Given the description of an element on the screen output the (x, y) to click on. 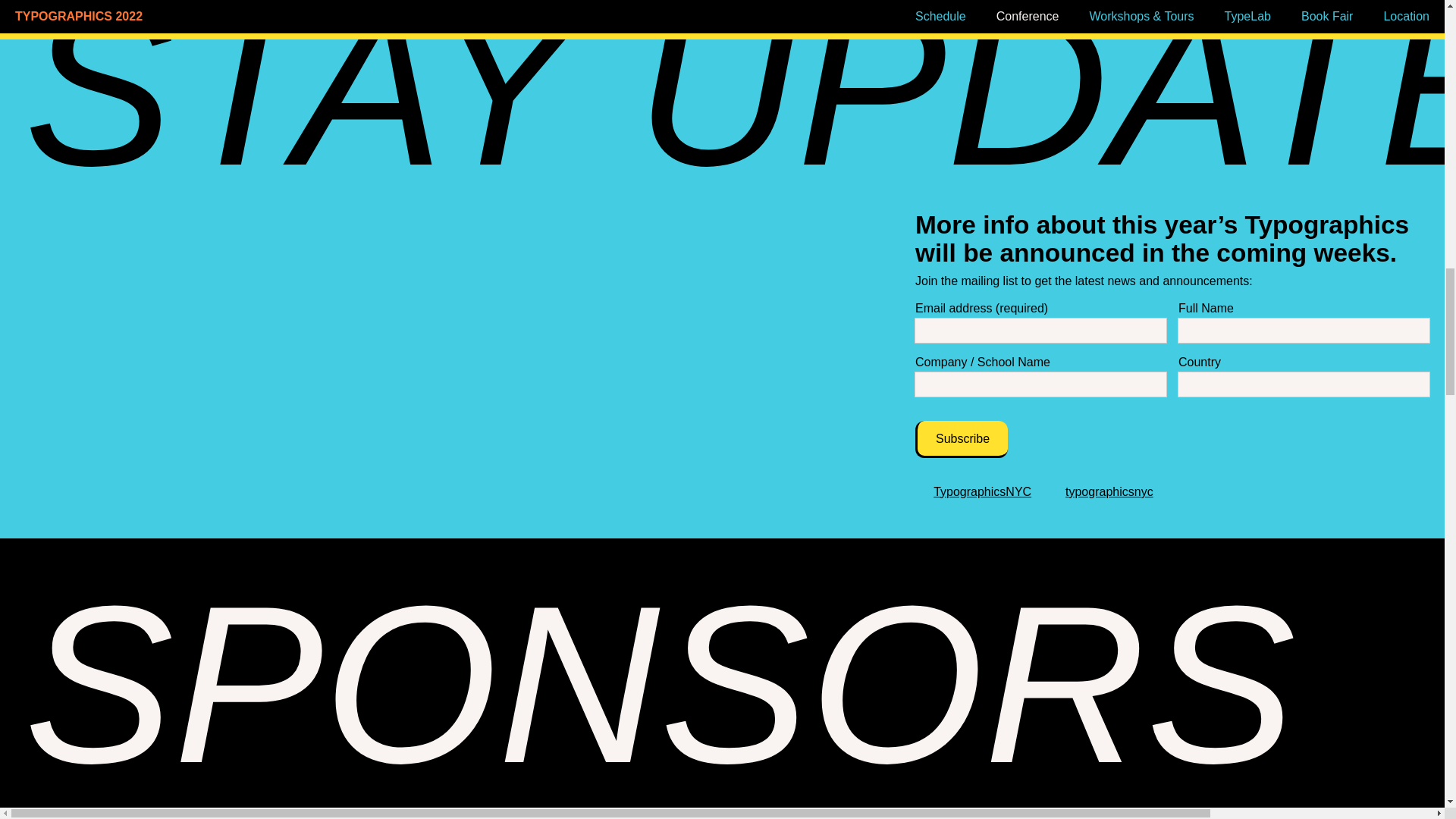
typographicsnyc (1109, 491)
Subscribe (961, 438)
TypographicsNYC (981, 491)
Subscribe (961, 438)
